Given the description of an element on the screen output the (x, y) to click on. 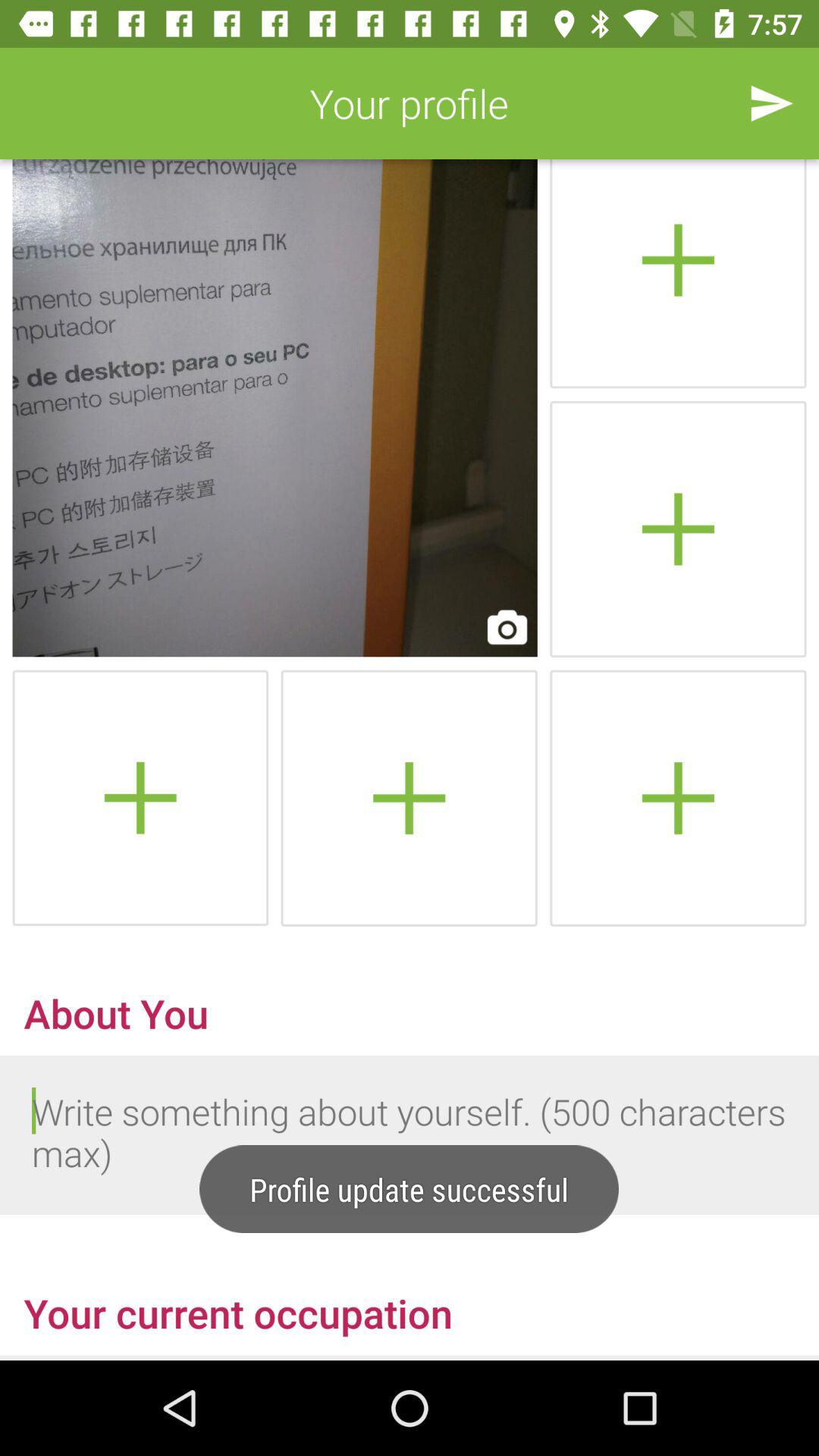
add an image (677, 797)
